Given the description of an element on the screen output the (x, y) to click on. 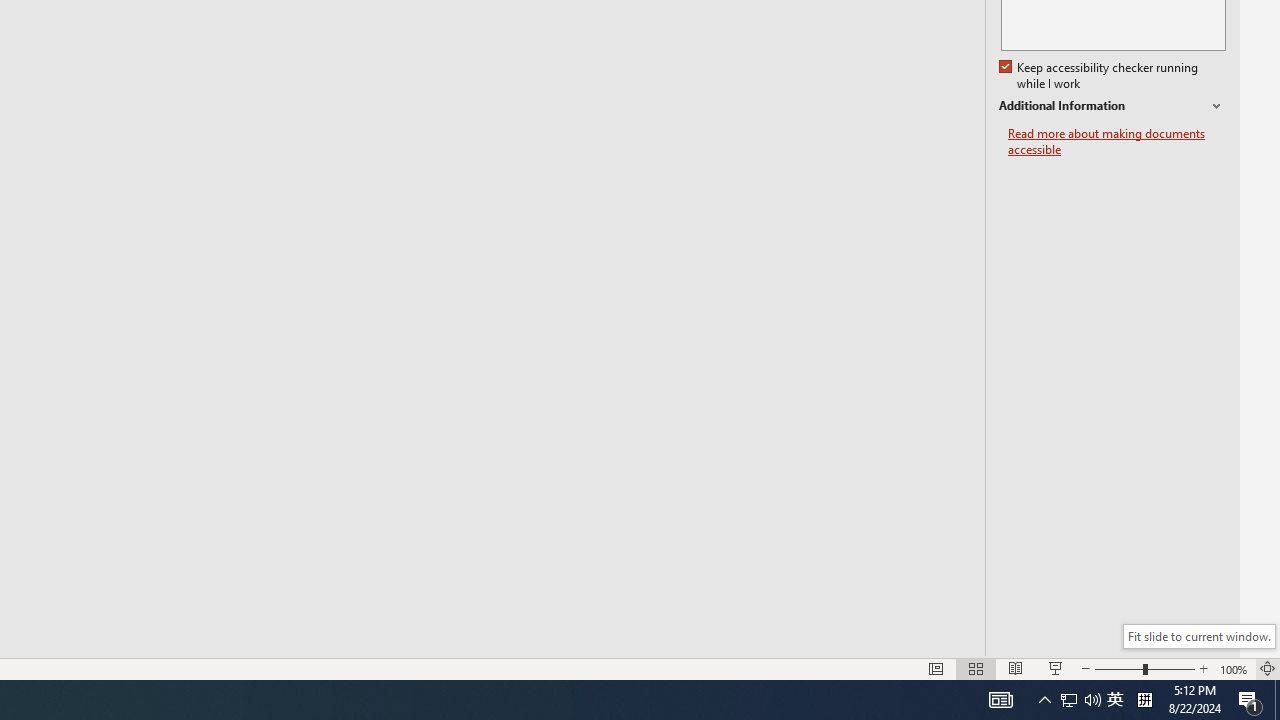
Zoom 100% (1234, 668)
